Given the description of an element on the screen output the (x, y) to click on. 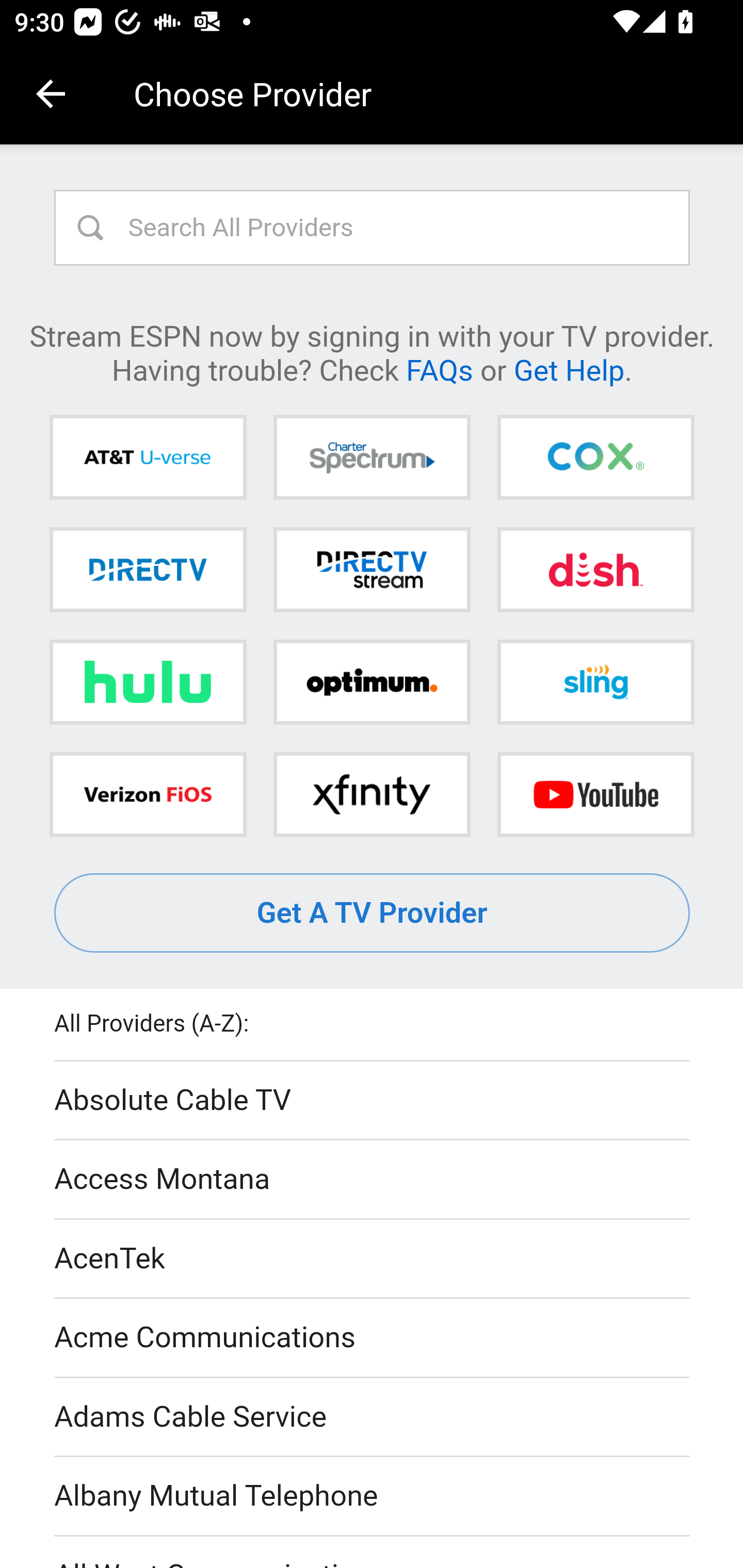
Navigate up (50, 93)
FAQs (438, 369)
Get Help (569, 369)
AT&T U-verse (147, 457)
Charter Spectrum (371, 457)
Cox (595, 457)
DIRECTV (147, 568)
DIRECTV STREAM (371, 568)
DISH (595, 568)
Hulu (147, 681)
Optimum (371, 681)
Sling TV (595, 681)
Verizon FiOS (147, 793)
Xfinity (371, 793)
YouTube TV (595, 793)
Get A TV Provider (372, 912)
Absolute Cable TV (372, 1100)
Access Montana (372, 1178)
AcenTek (372, 1258)
Acme Communications (372, 1338)
Adams Cable Service (372, 1417)
Albany Mutual Telephone (372, 1497)
